Given the description of an element on the screen output the (x, y) to click on. 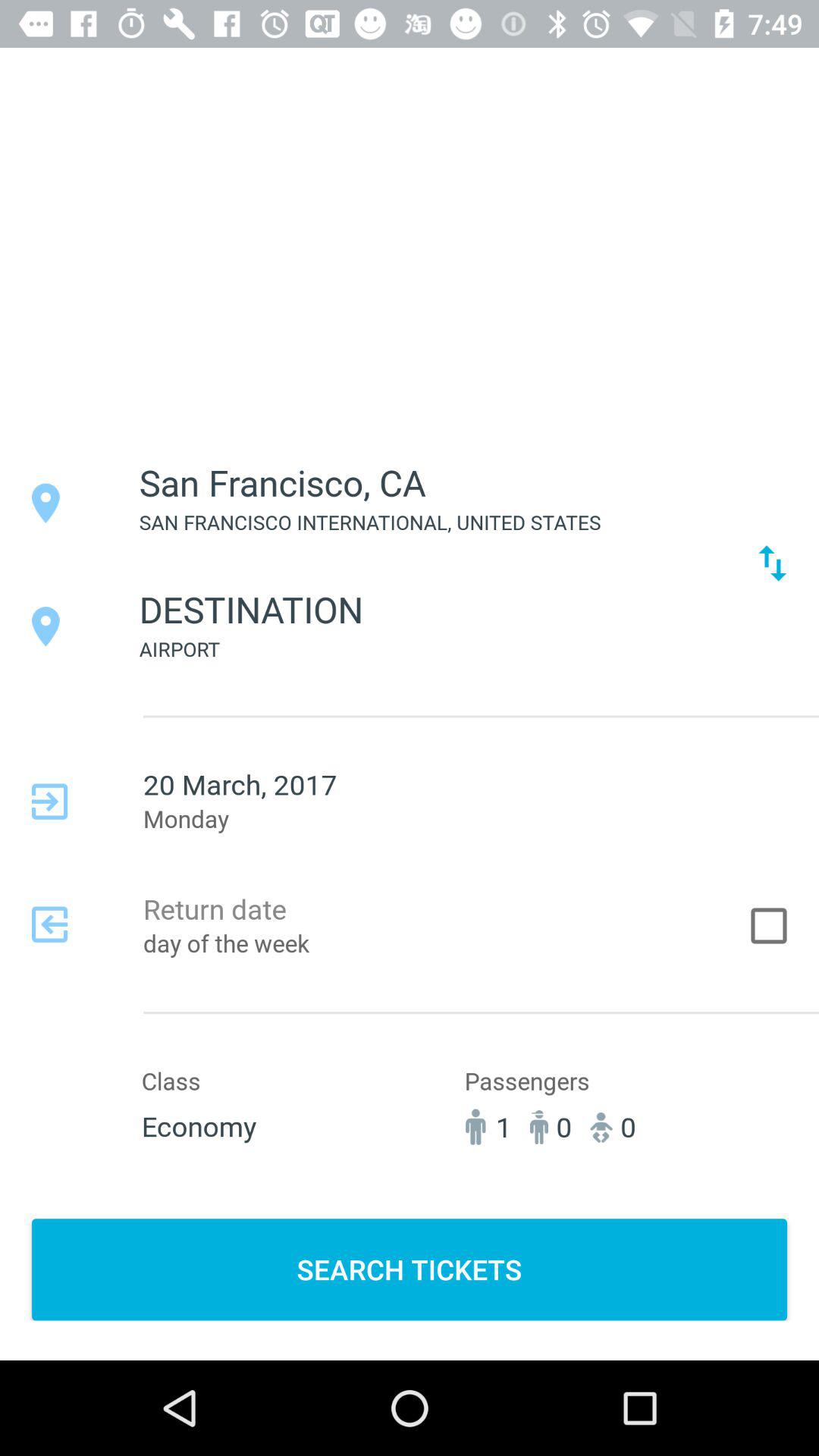
turn on the item below 1 icon (409, 1269)
